Given the description of an element on the screen output the (x, y) to click on. 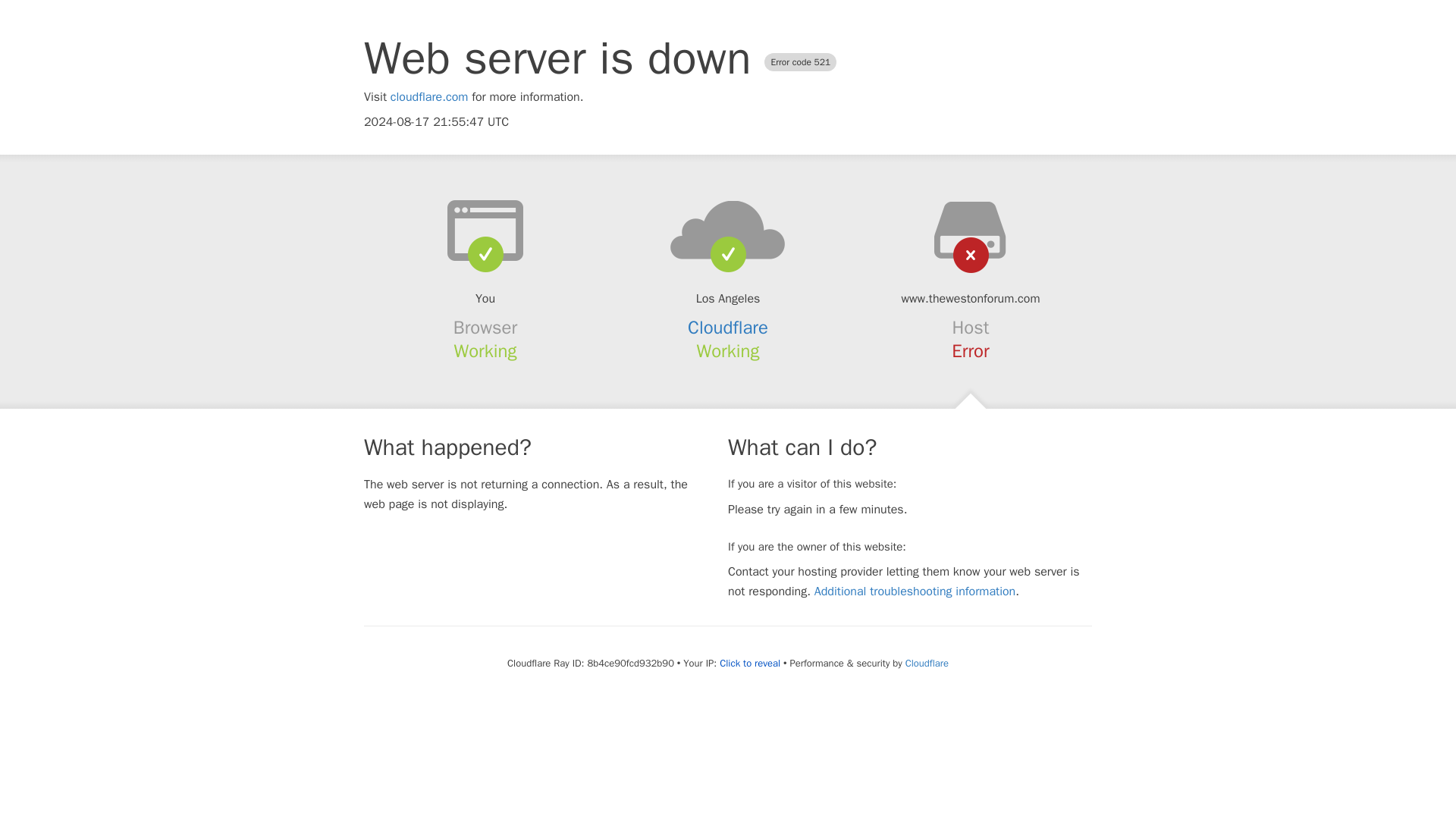
Cloudflare (927, 662)
Click to reveal (749, 663)
Additional troubleshooting information (913, 590)
Cloudflare (727, 327)
cloudflare.com (429, 96)
